Given the description of an element on the screen output the (x, y) to click on. 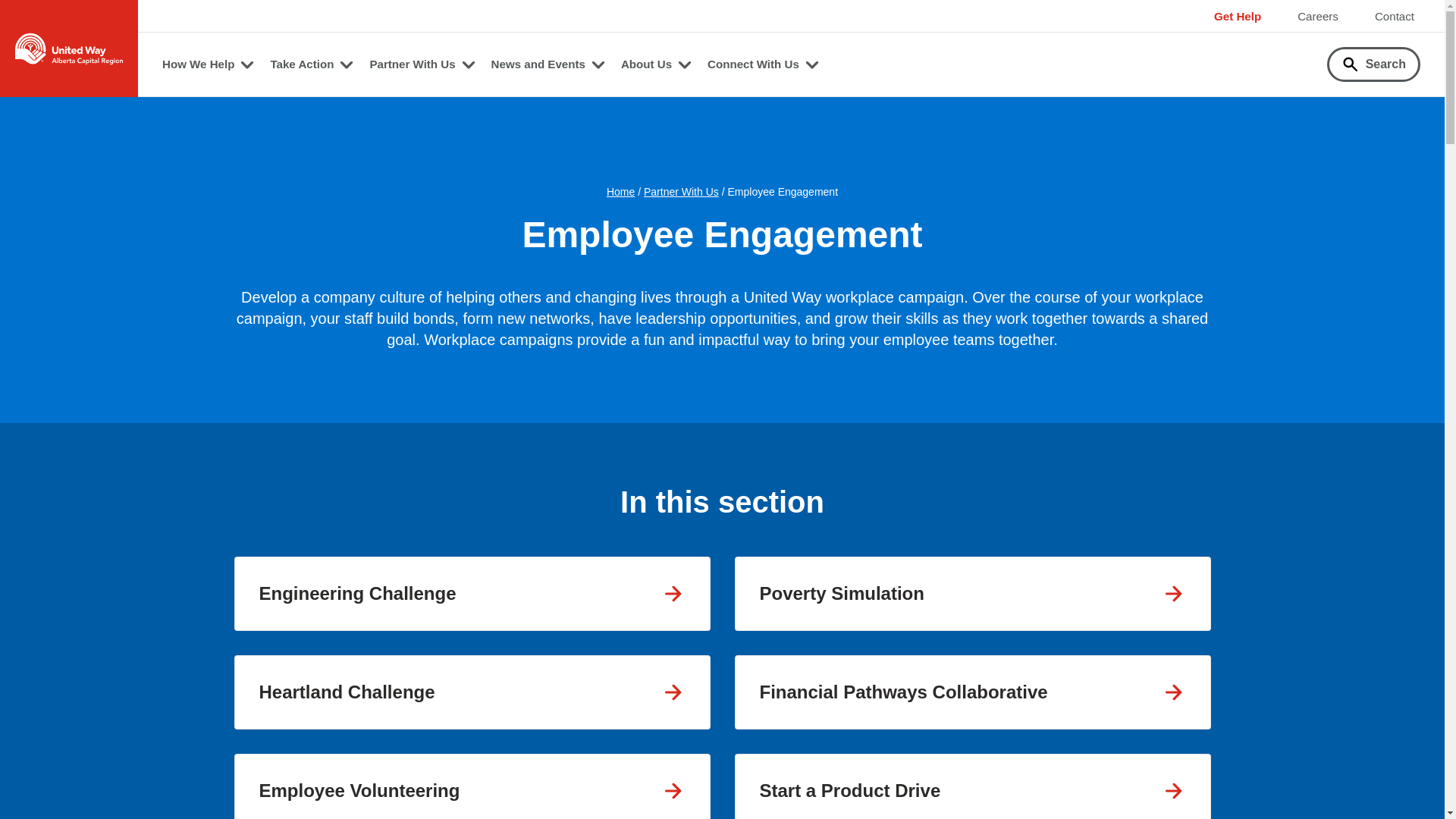
Heartland Challenge (471, 692)
How We Help (207, 64)
Start a Product Drive (971, 786)
Get Help (1237, 16)
Careers (1317, 16)
Poverty Simulation (971, 593)
About Us (656, 64)
Partner With Us (421, 64)
Take Action (311, 64)
Contact (1394, 16)
